Given the description of an element on the screen output the (x, y) to click on. 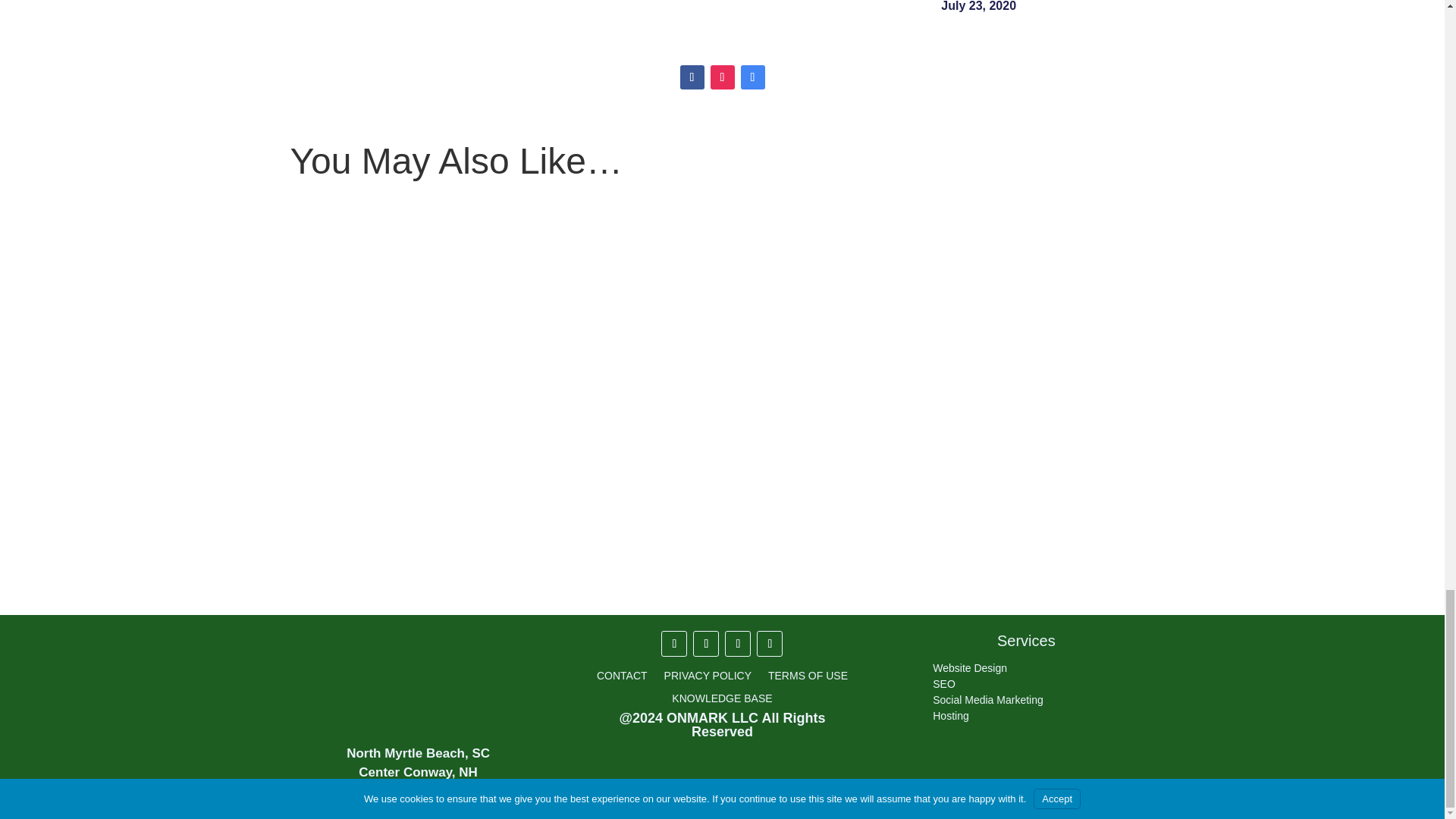
Follow on Youtube (770, 643)
Follow on Facebook (674, 643)
Follow on Instagram (738, 643)
Follow on X (706, 643)
Follow on Facebook (691, 77)
Follow on Instagram (721, 77)
Follow on Google (751, 77)
